Given the description of an element on the screen output the (x, y) to click on. 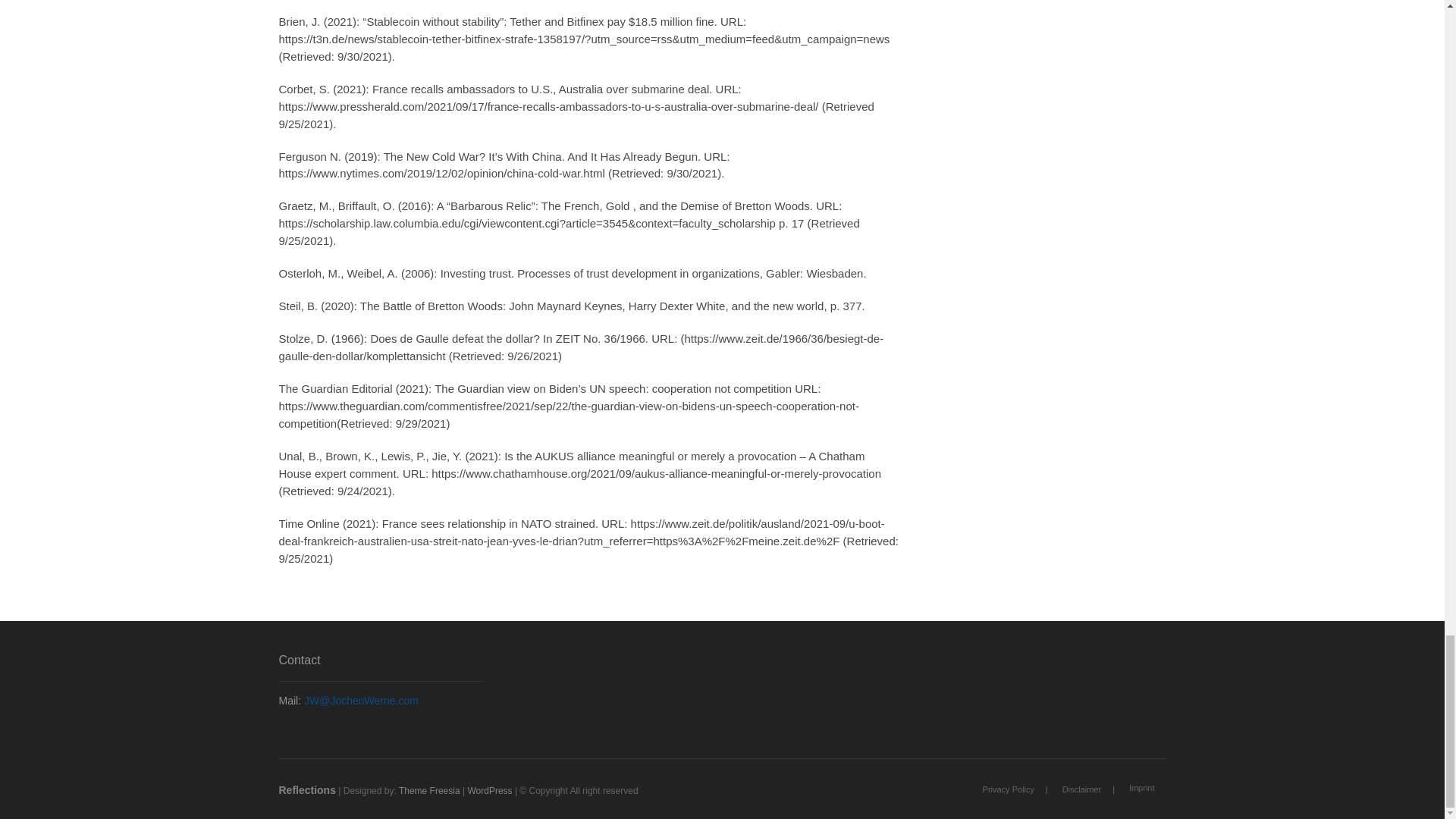
Reflections (307, 789)
Theme Freesia (429, 790)
WordPress (489, 790)
